Given the description of an element on the screen output the (x, y) to click on. 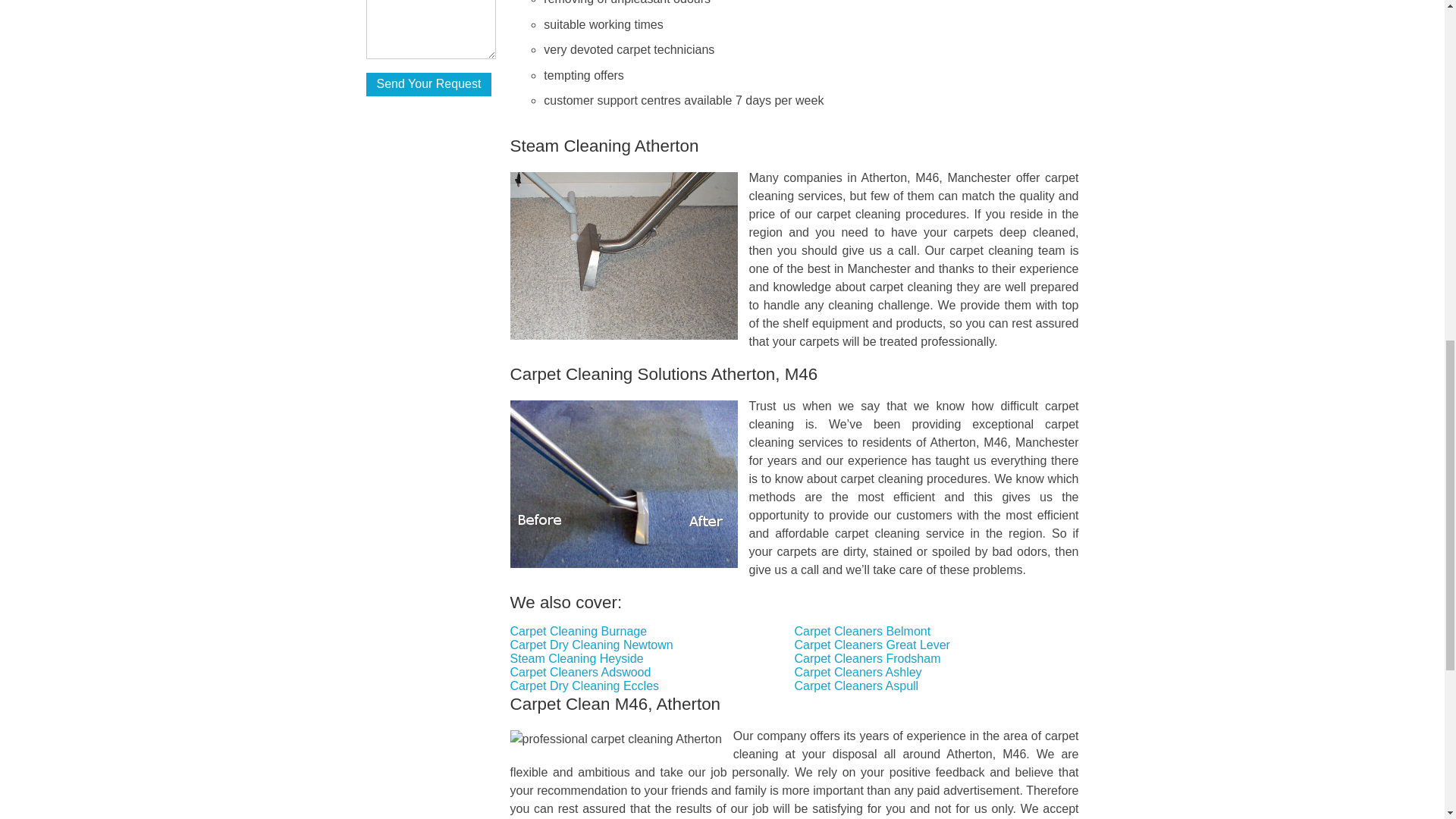
Steam Cleaning Heyside (577, 658)
M30 Carpet Dry Cleaning Eccles (585, 685)
Send Your Request (428, 84)
Send Your Request (428, 84)
Carpet Cleaners Adswood (580, 671)
Carpet Cleaners Frodsham (867, 658)
Carpet Cleaners Great Lever (872, 644)
Carpet Cleaners Belmont (862, 631)
OL2 Steam Cleaning Heyside (577, 658)
SK3 Carpet Cleaners Adswood (580, 671)
